Given the description of an element on the screen output the (x, y) to click on. 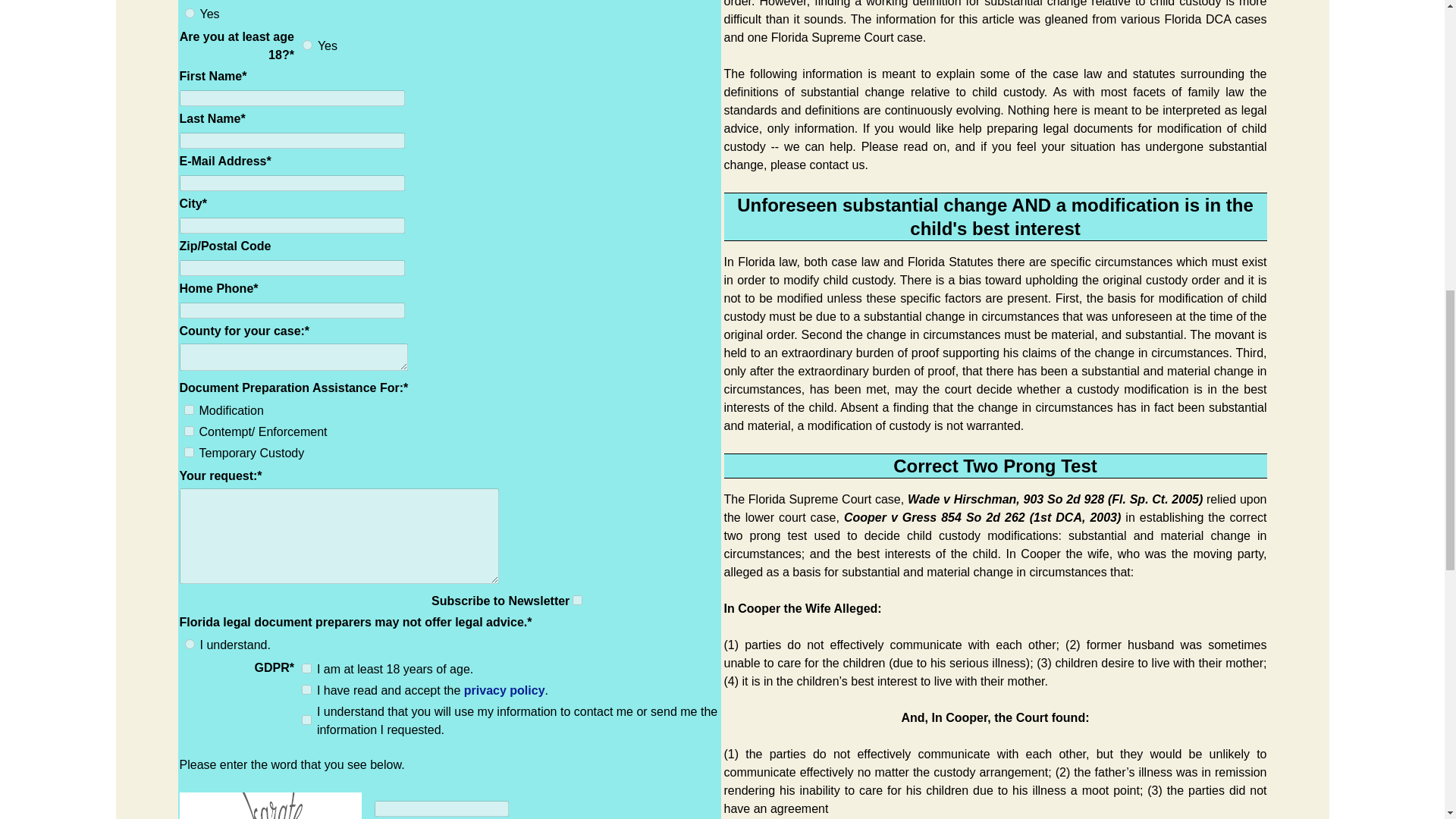
1 (577, 600)
I understand. (189, 644)
Yes (189, 13)
I am at least 18 years of age. (306, 668)
Temporary Custody (188, 452)
Modification (188, 409)
Yes (307, 44)
